Given the description of an element on the screen output the (x, y) to click on. 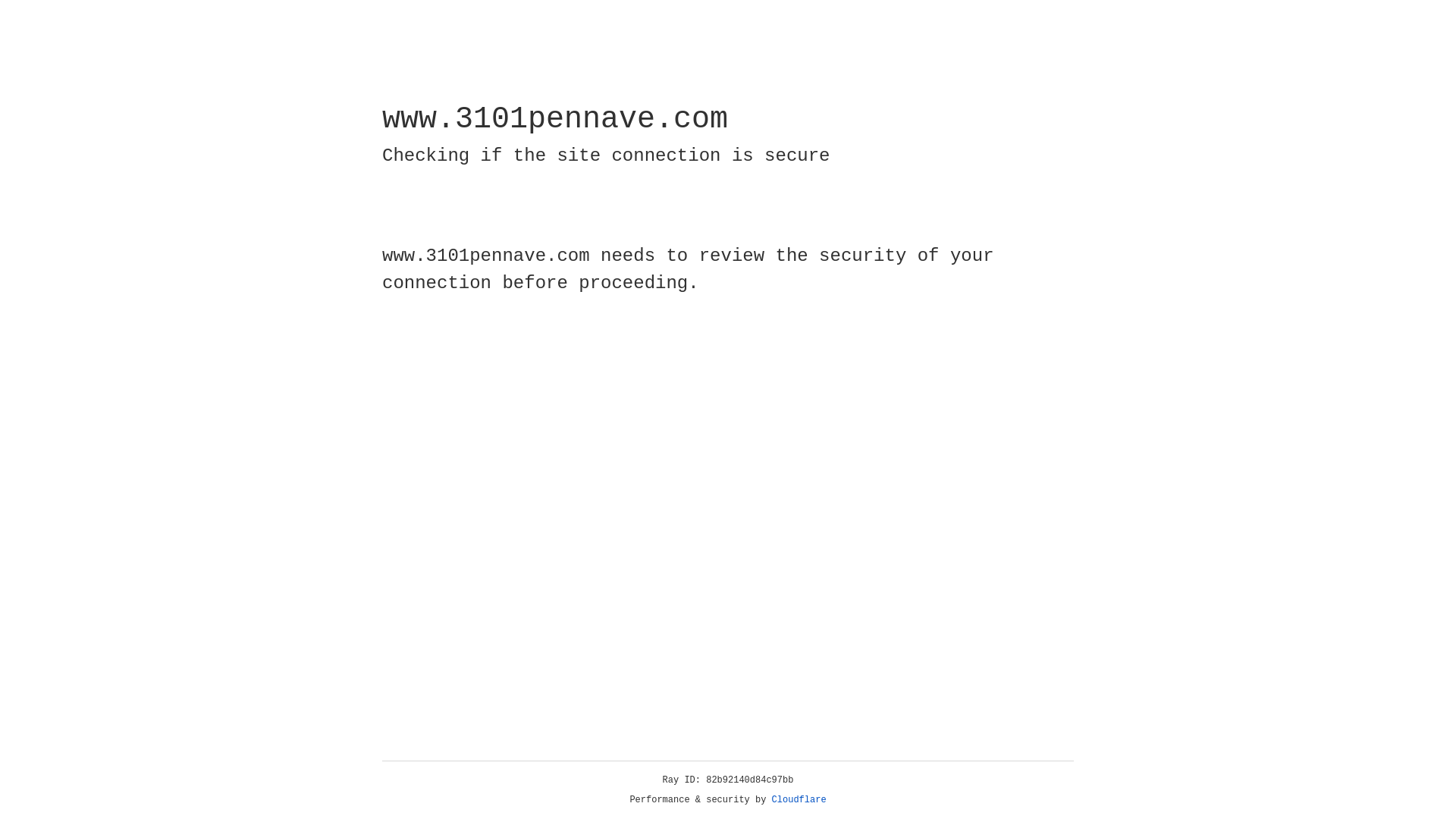
Cloudflare Element type: text (798, 799)
